Given the description of an element on the screen output the (x, y) to click on. 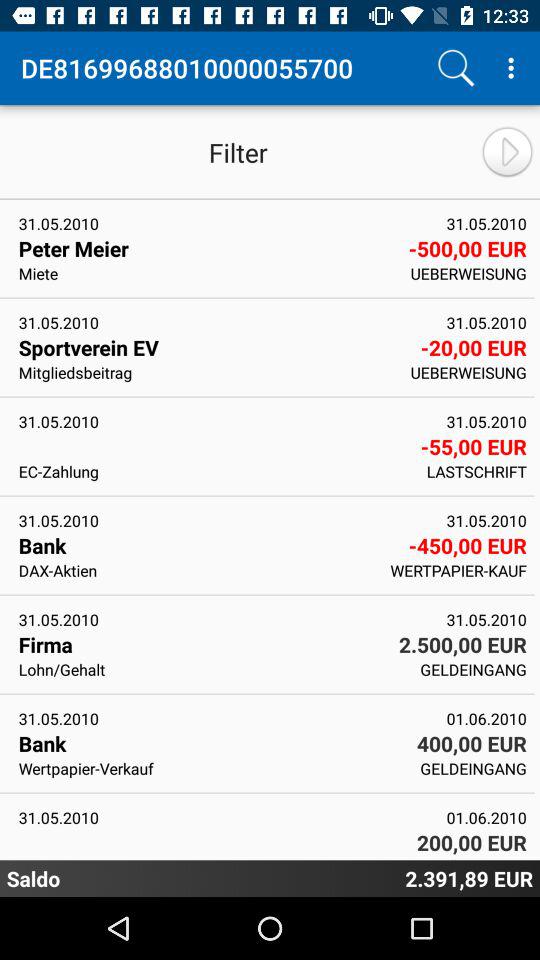
turn off the app below the sportverein ev item (207, 372)
